Given the description of an element on the screen output the (x, y) to click on. 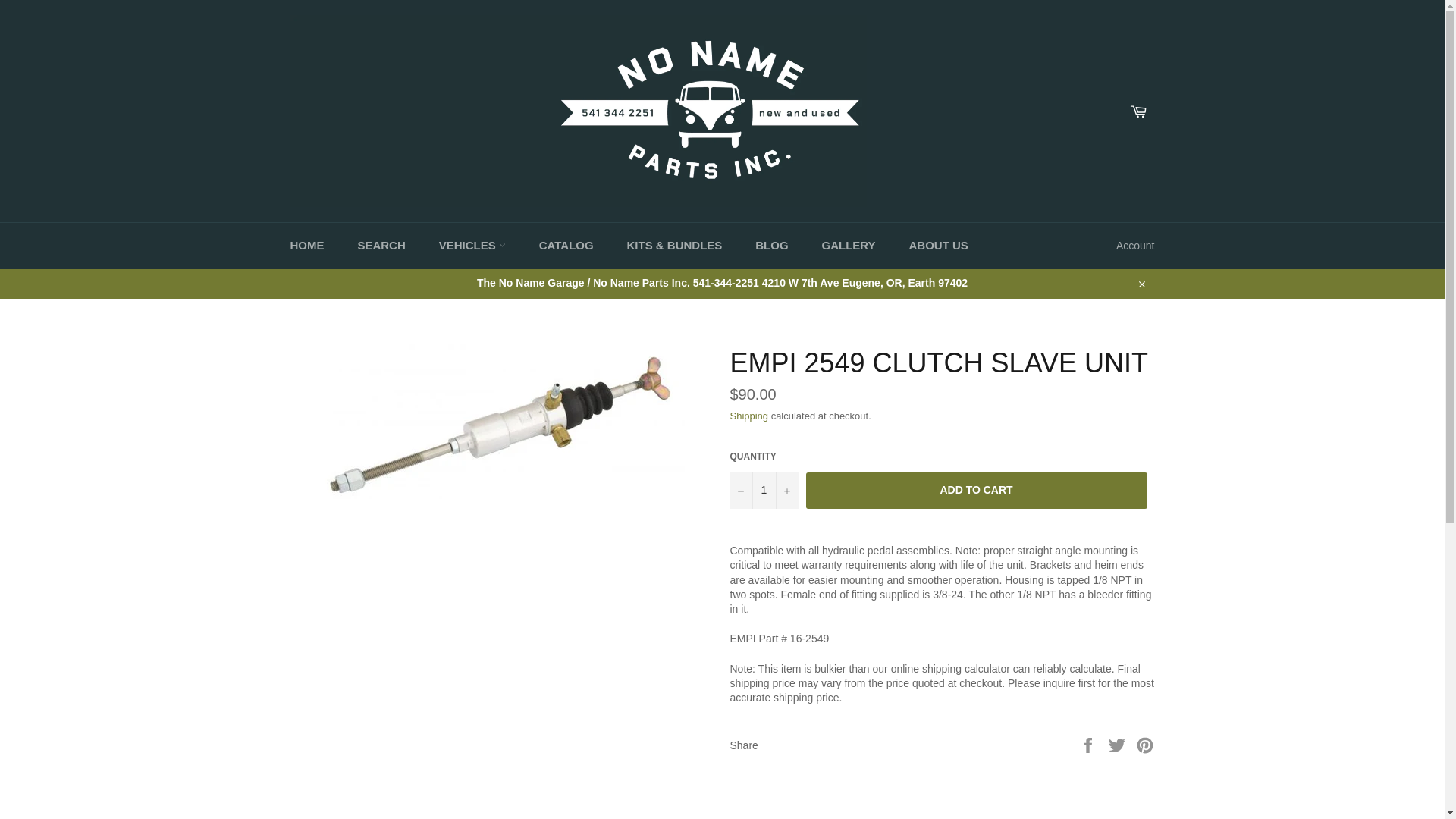
Pin on Pinterest (1144, 744)
BLOG (771, 245)
Tweet on Twitter (1118, 744)
Share on Facebook (1089, 744)
SEARCH (381, 245)
HOME (307, 245)
VEHICLES (472, 245)
Cart (1138, 111)
CATALOG (566, 245)
1 (763, 490)
